Given the description of an element on the screen output the (x, y) to click on. 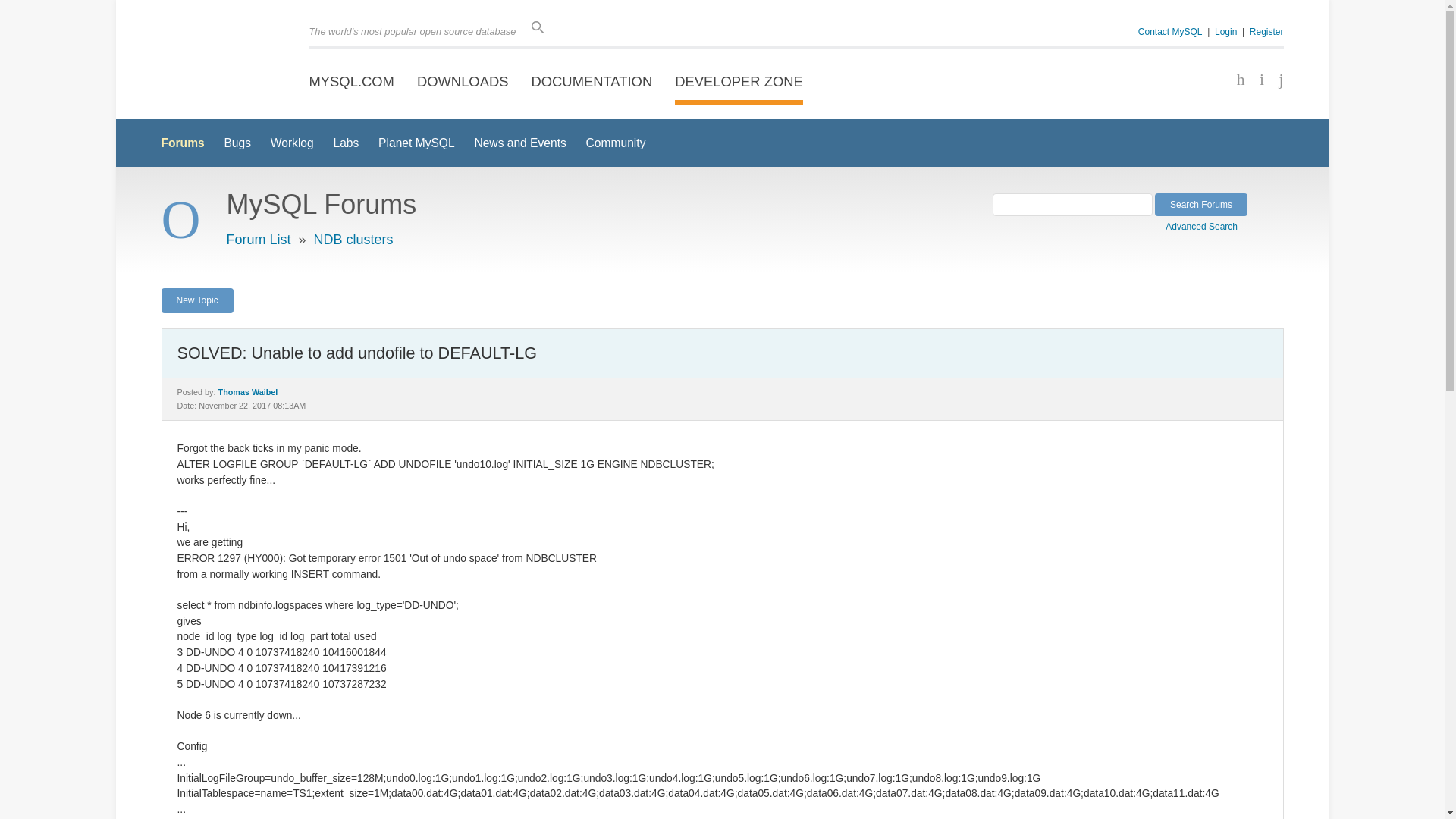
Forums (181, 142)
Search Forums (1200, 204)
DOCUMENTATION (591, 81)
Community (616, 142)
Planet MySQL (416, 142)
NDB clusters (353, 239)
MySQL (214, 60)
Bugs (237, 142)
Search Forums (1200, 204)
MYSQL.COM (351, 81)
Advanced Search (1206, 224)
Login (1225, 31)
News and Events (520, 142)
DEVELOPER ZONE (739, 81)
Thomas Waibel (248, 391)
